Given the description of an element on the screen output the (x, y) to click on. 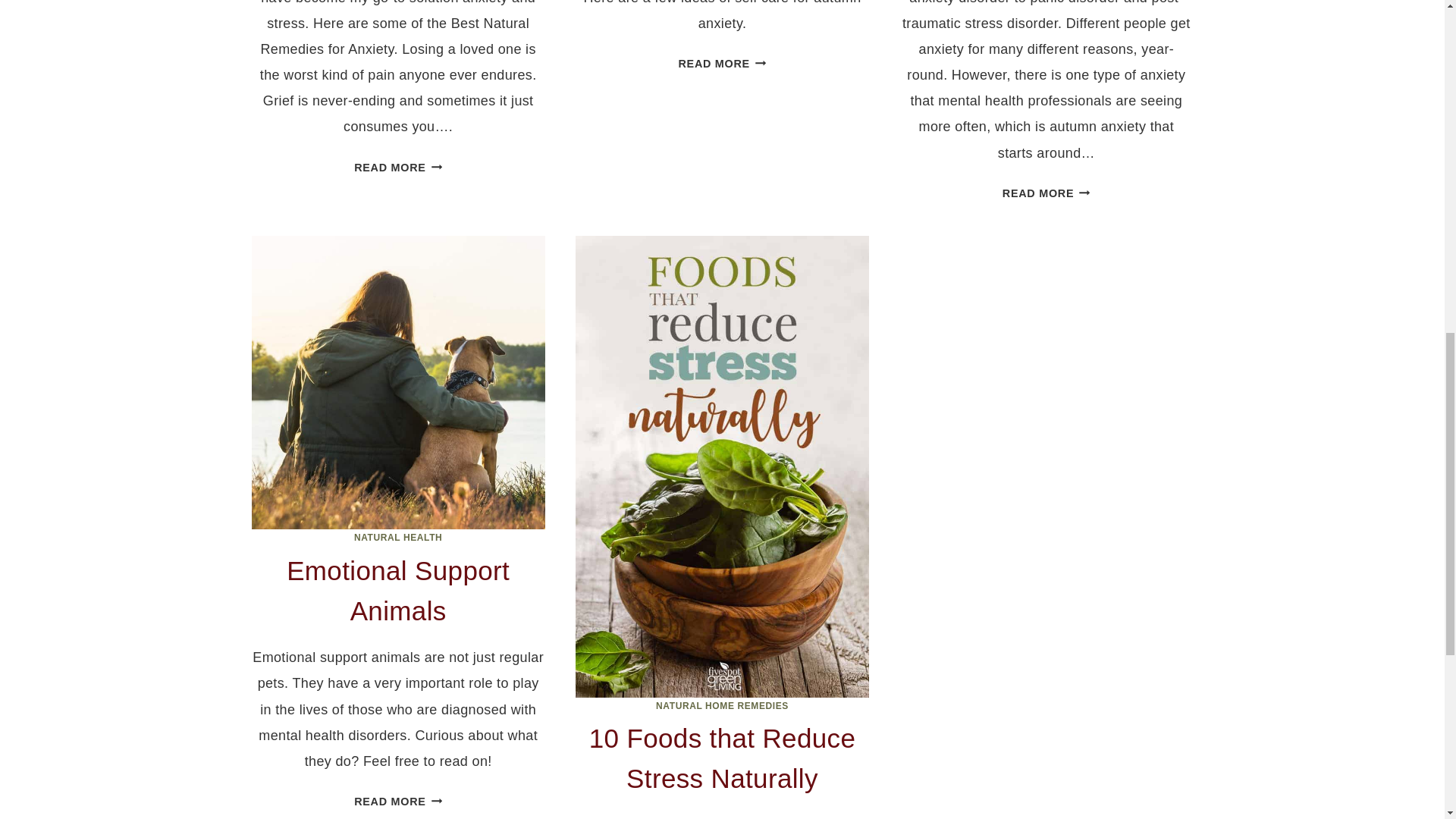
NATURAL HEALTH (721, 63)
Emotional Support Animals (397, 167)
